Given the description of an element on the screen output the (x, y) to click on. 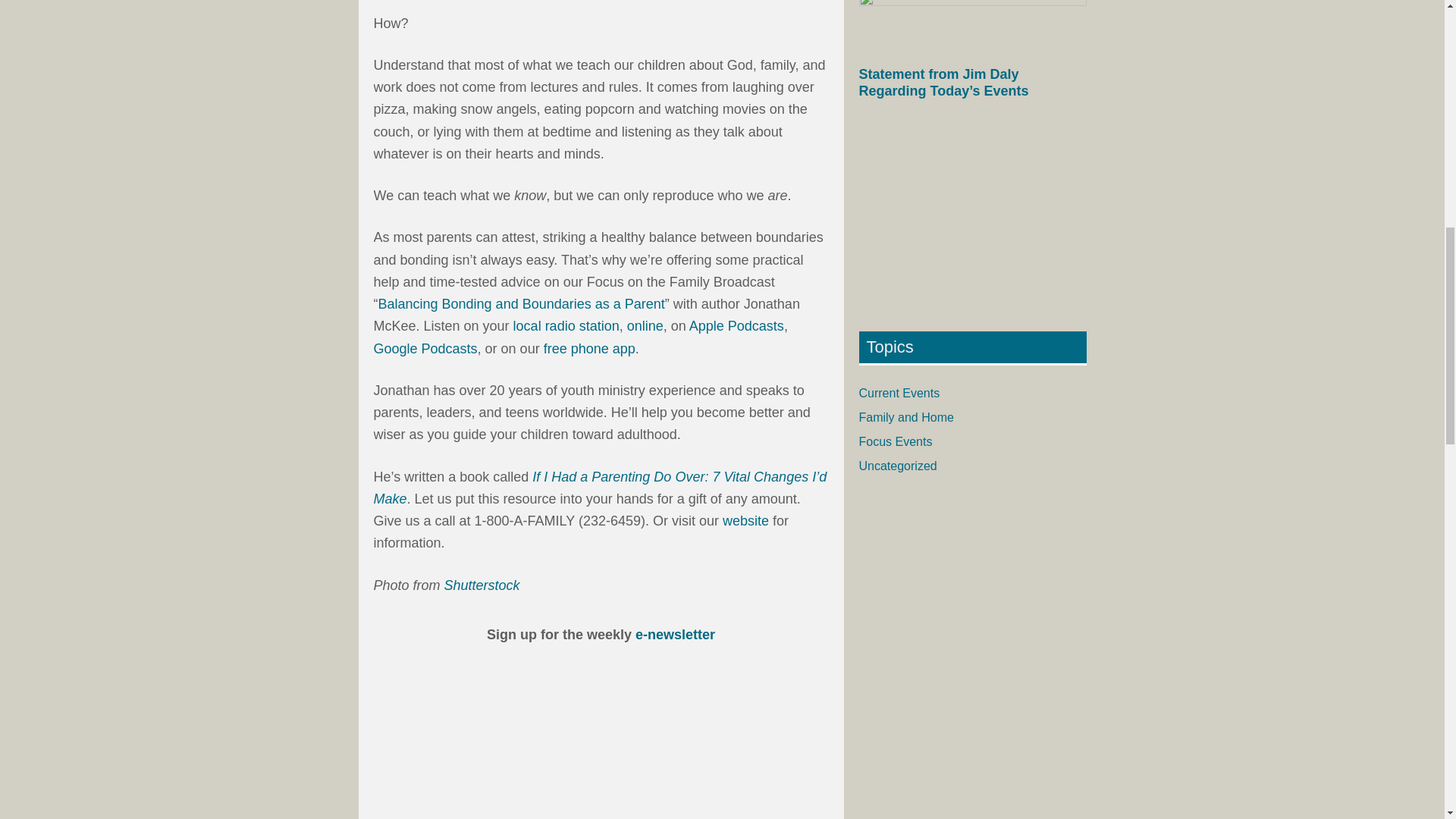
online (645, 325)
e-newsletter (674, 634)
free phone app (588, 348)
Google Podcasts (424, 348)
website (745, 520)
Apple Podcasts (736, 325)
Balancing Bonding and Boundaries as a Parent (520, 304)
Shutterstock (481, 585)
local radio station (566, 325)
